Given the description of an element on the screen output the (x, y) to click on. 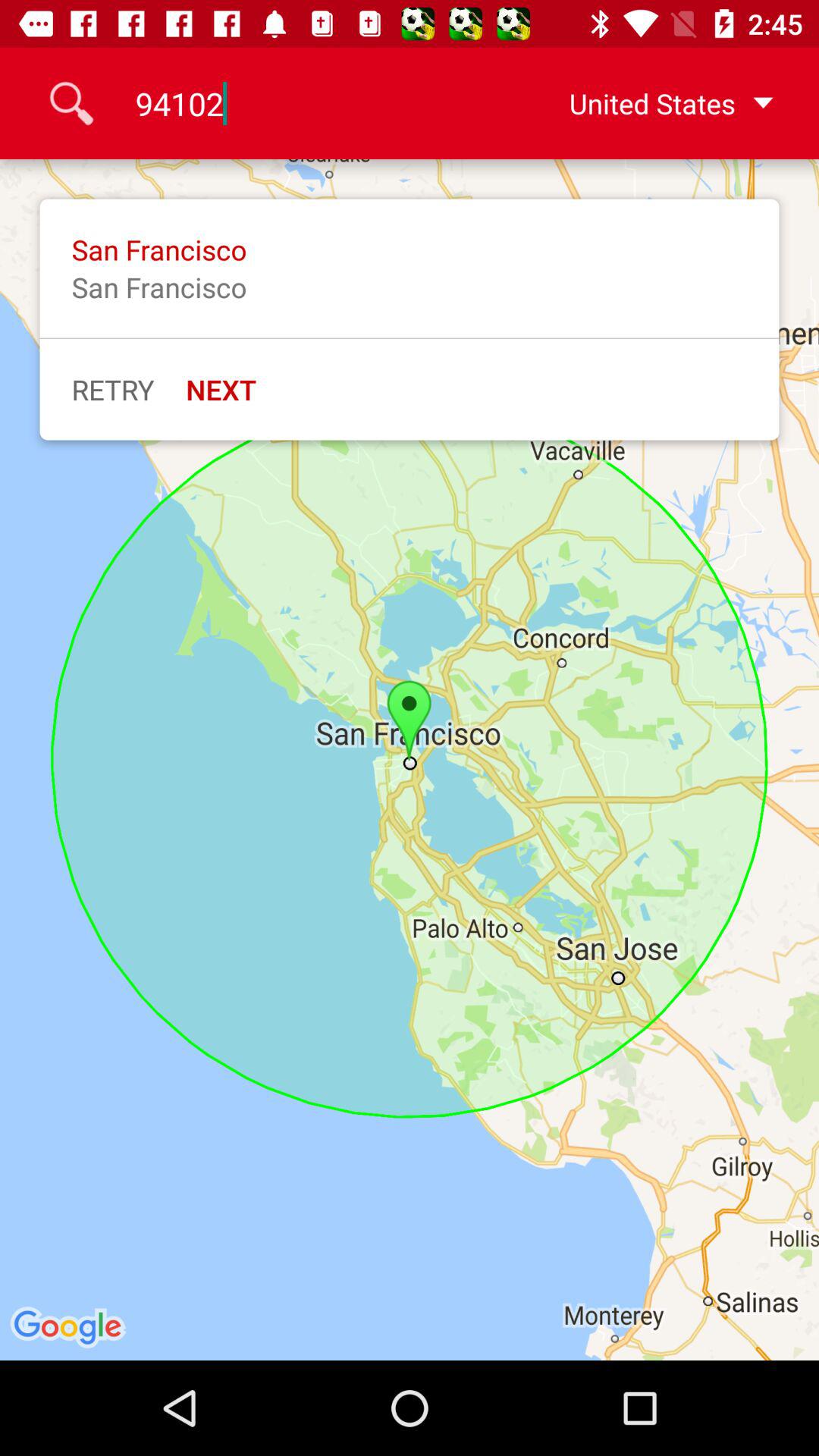
click the next (220, 389)
